Given the description of an element on the screen output the (x, y) to click on. 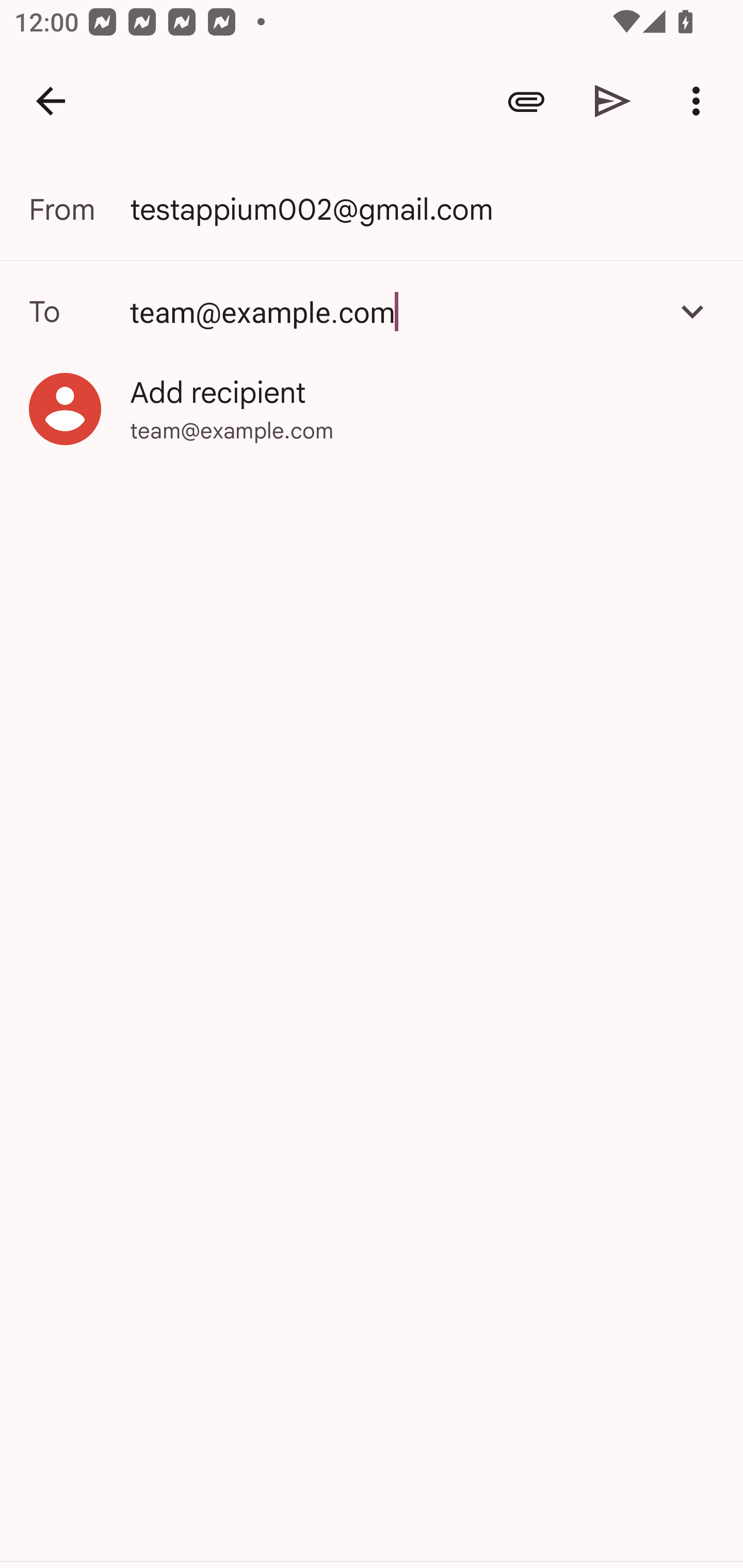
Navigate up (50, 101)
Attach file (525, 101)
Send (612, 101)
More options (699, 101)
From (79, 209)
Add Cc/Bcc (692, 311)
team@example.com (371, 311)
team@example.com (393, 311)
Add recipient team@example.com (371, 408)
